Given the description of an element on the screen output the (x, y) to click on. 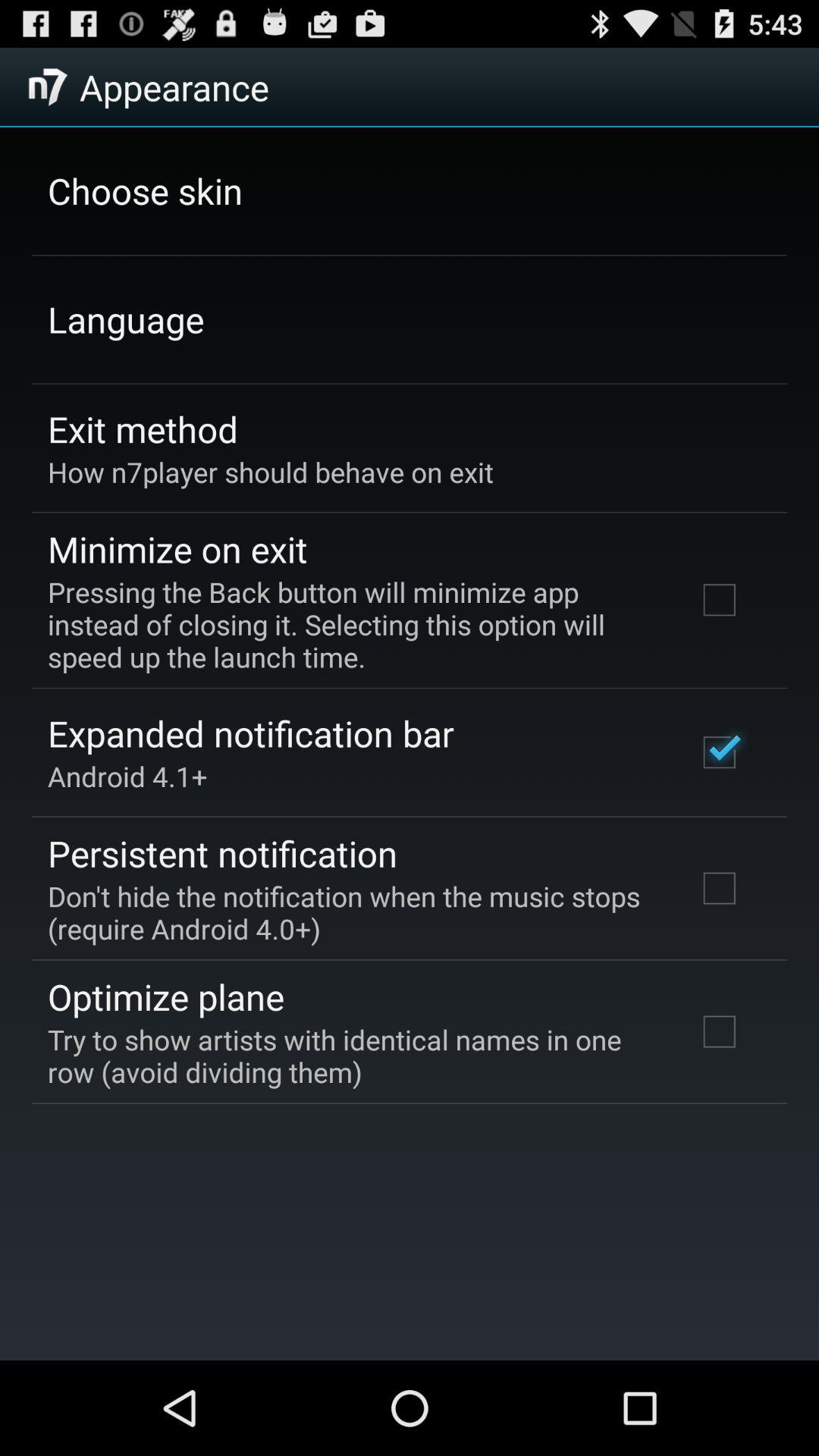
scroll to the choose skin app (144, 190)
